Given the description of an element on the screen output the (x, y) to click on. 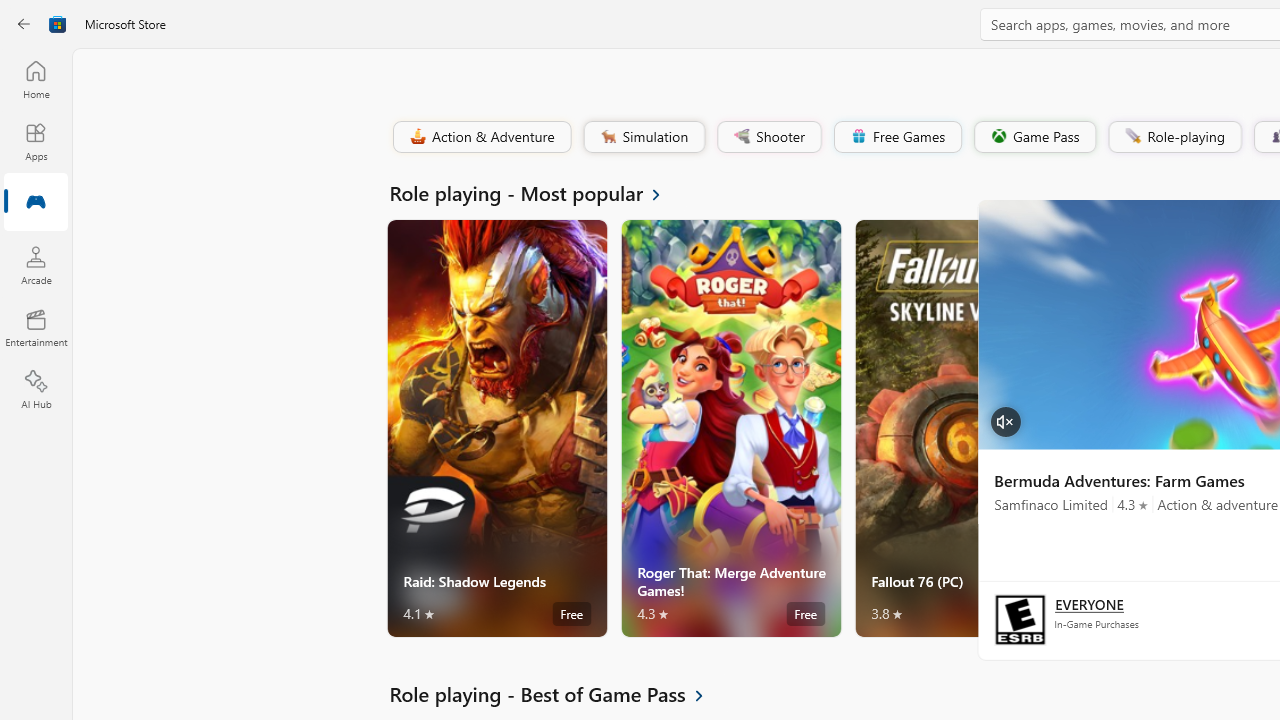
Arcade (35, 265)
Mute (1005, 420)
Back (24, 24)
Home (35, 79)
